Given the description of an element on the screen output the (x, y) to click on. 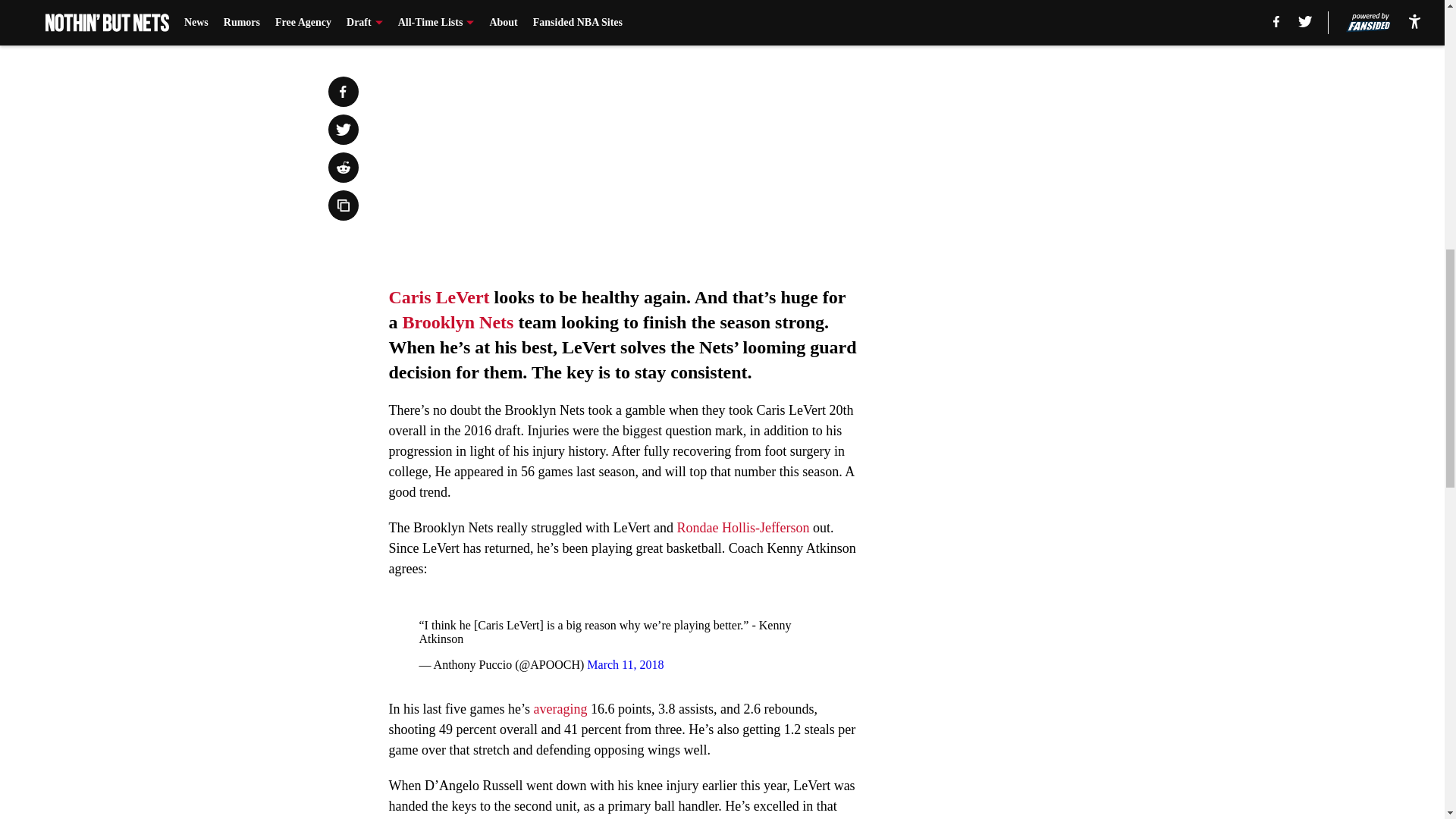
March 11, 2018 (624, 664)
Caris LeVert (438, 297)
Brooklyn Nets (457, 322)
Rondae Hollis-Jefferson (743, 527)
averaging (559, 708)
